Given the description of an element on the screen output the (x, y) to click on. 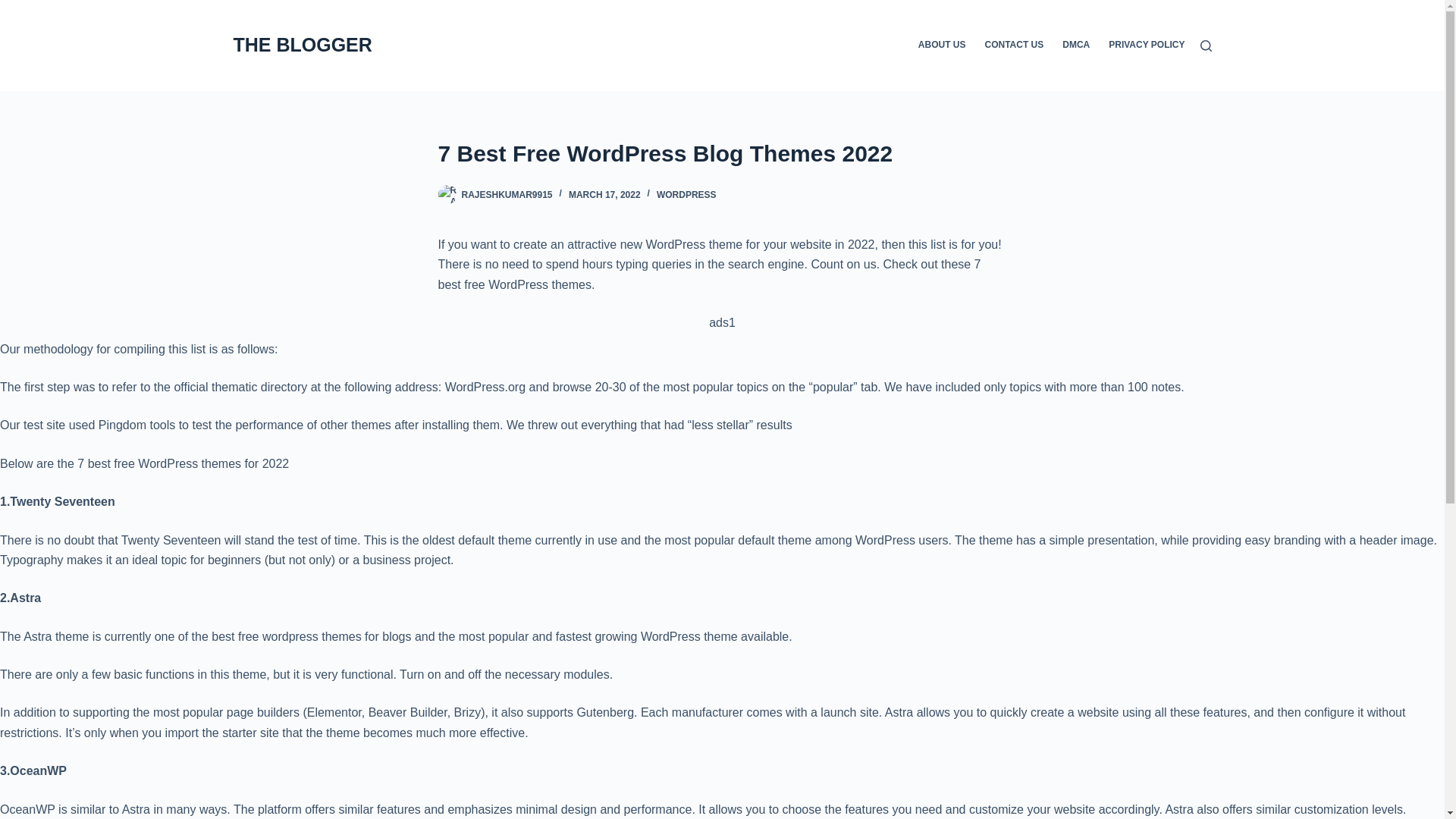
Posts by rajeshkumar9915 (506, 194)
Skip to content (15, 7)
RAJESHKUMAR9915 (506, 194)
THE BLOGGER (302, 44)
7 Best Free WordPress Blog Themes 2022 (722, 153)
PRIVACY POLICY (1142, 45)
WORDPRESS (686, 194)
